Given the description of an element on the screen output the (x, y) to click on. 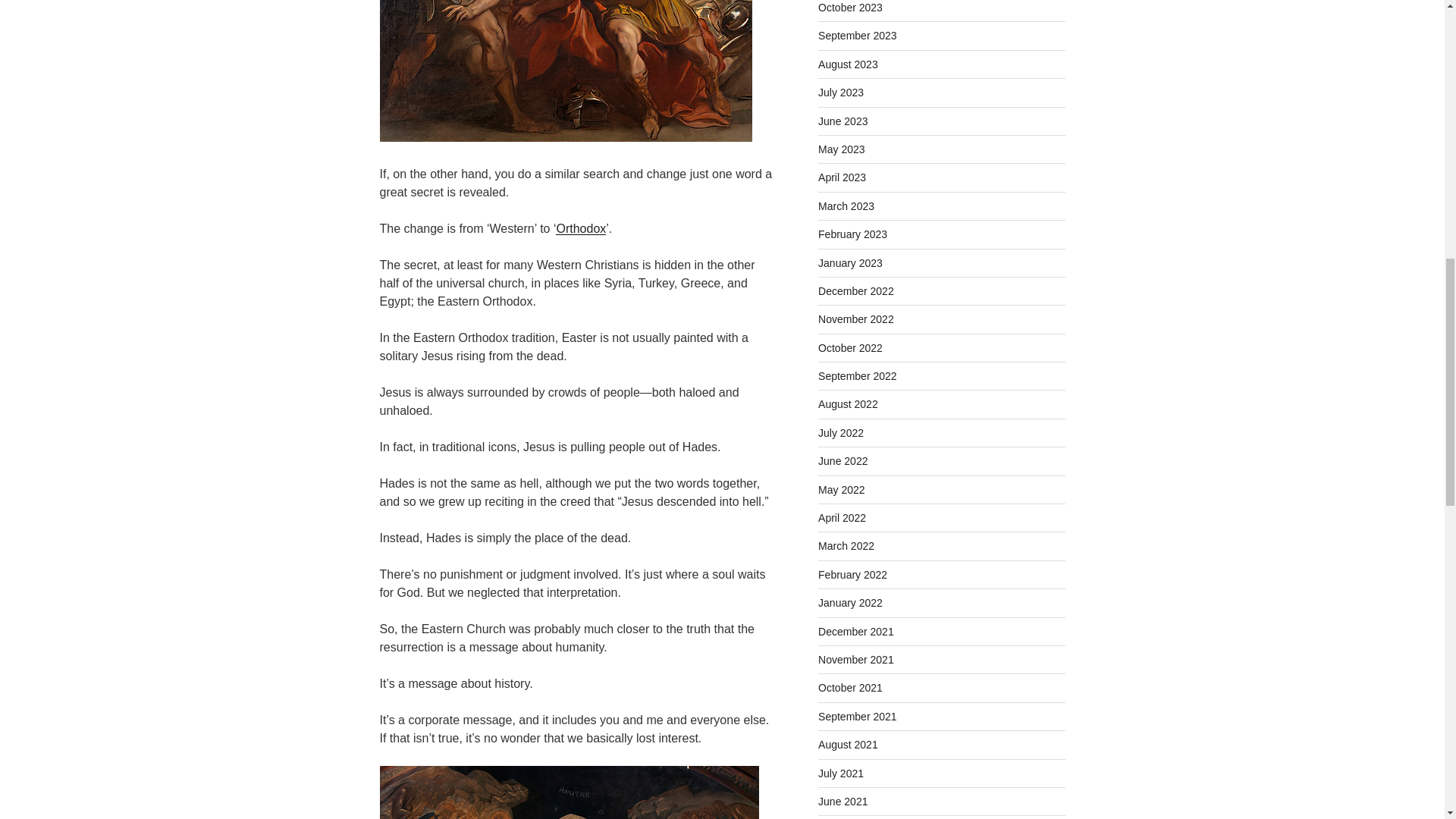
February 2023 (852, 234)
May 2023 (841, 149)
June 2023 (842, 121)
January 2023 (850, 263)
July 2023 (840, 92)
October 2023 (850, 7)
September 2023 (857, 35)
August 2023 (847, 64)
April 2023 (842, 177)
March 2023 (846, 205)
Orthodox (580, 228)
